Given the description of an element on the screen output the (x, y) to click on. 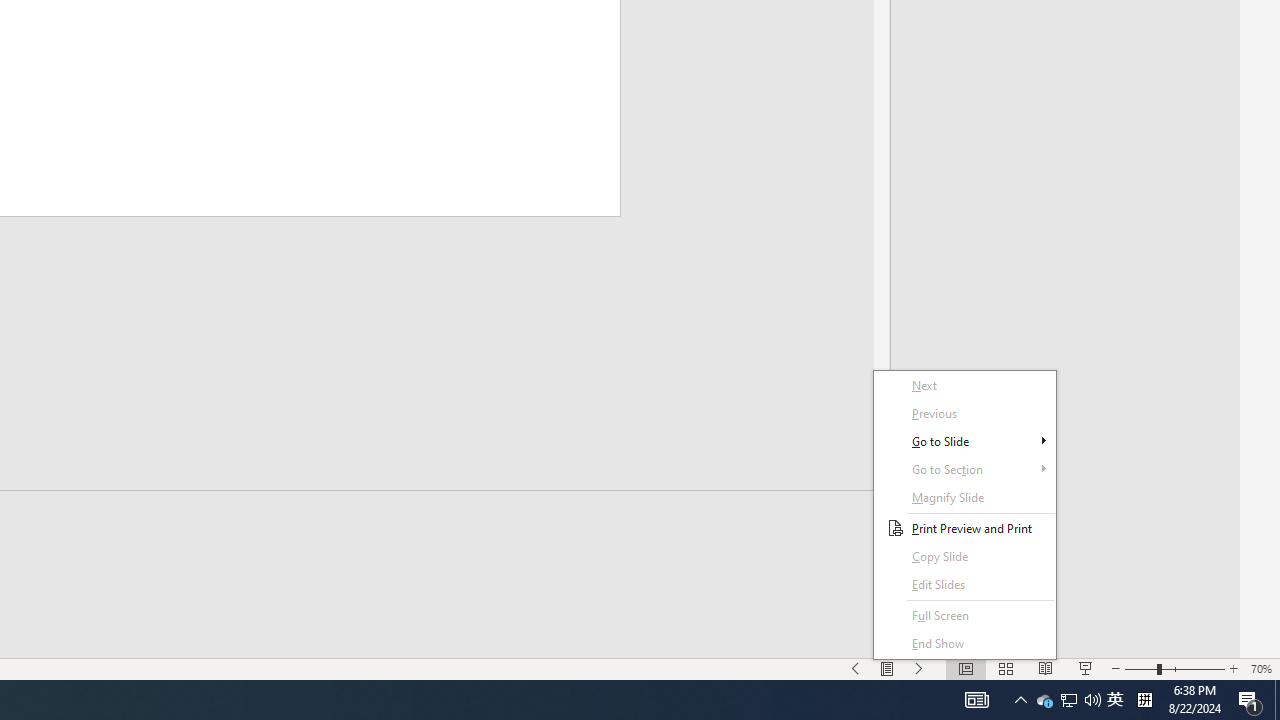
Full Screen (964, 615)
Copy Slide (964, 556)
Edit Slides (964, 584)
Previous (964, 413)
Go to Slide (964, 441)
Class: NetUITWMenuContainer (964, 515)
Context Menu (964, 515)
Next (964, 386)
